Given the description of an element on the screen output the (x, y) to click on. 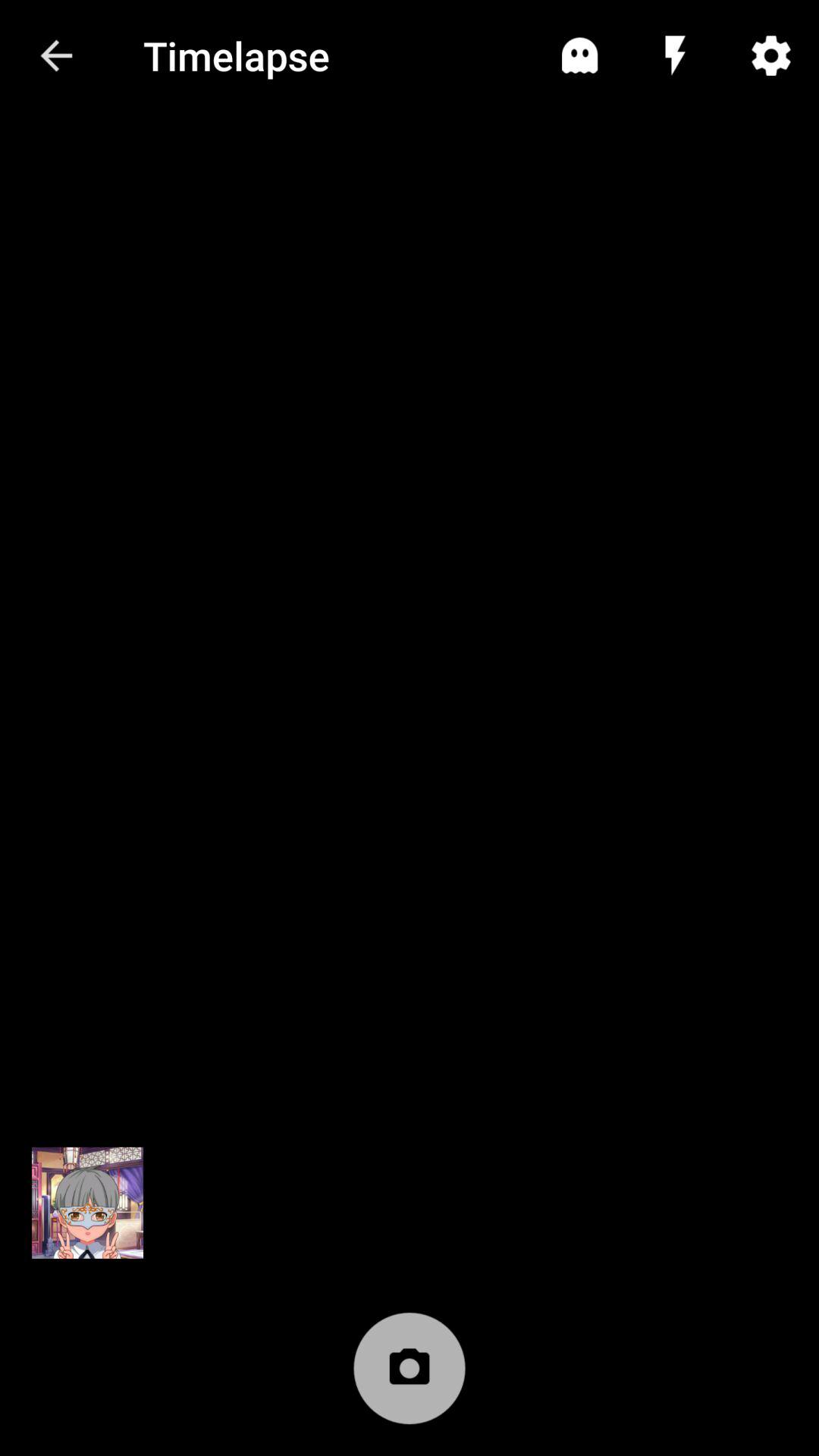
take picture (409, 1376)
